Given the description of an element on the screen output the (x, y) to click on. 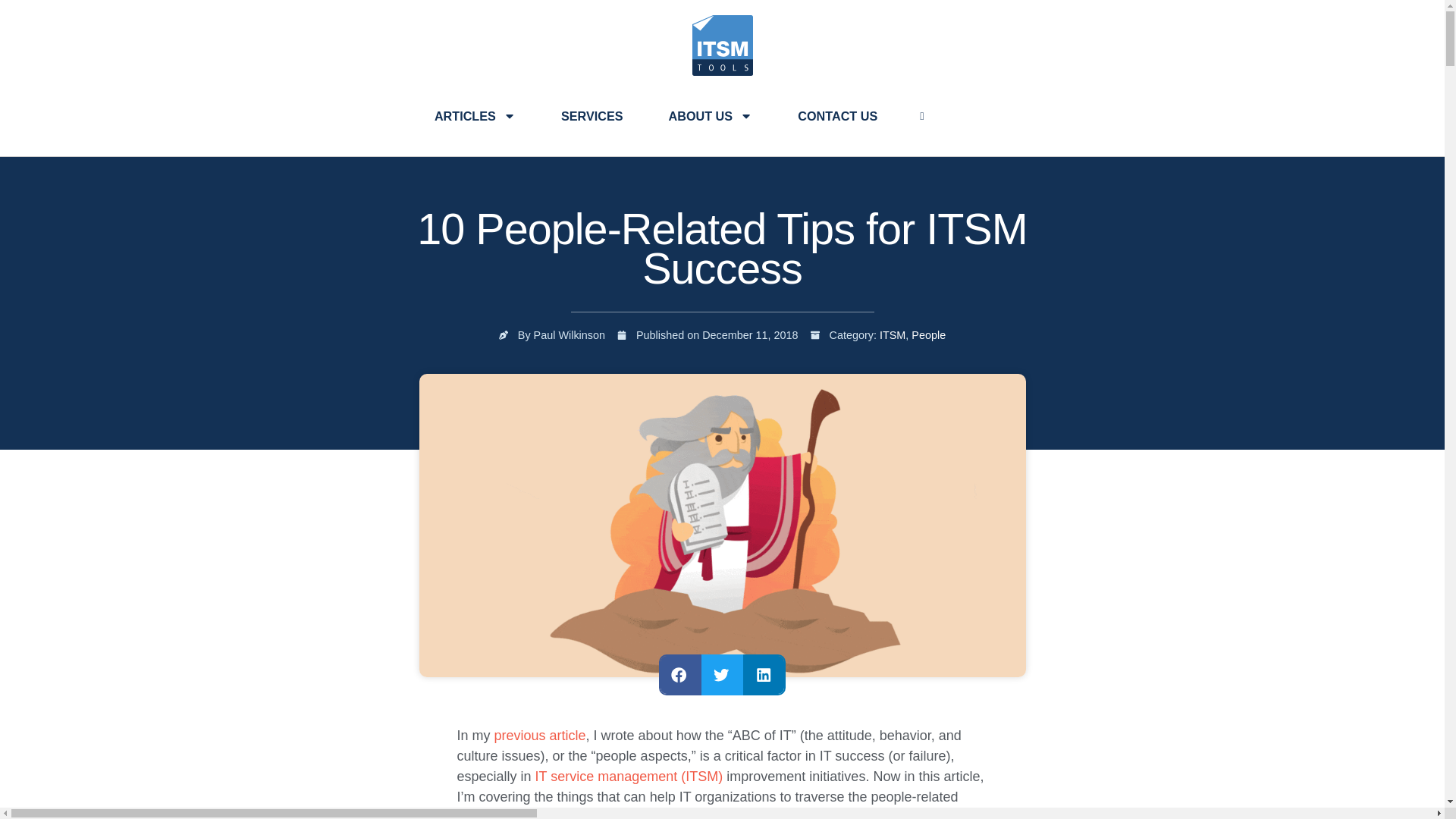
ABOUT US (710, 115)
ARTICLES (475, 115)
SERVICES (592, 115)
CONTACT US (837, 115)
